Given the description of an element on the screen output the (x, y) to click on. 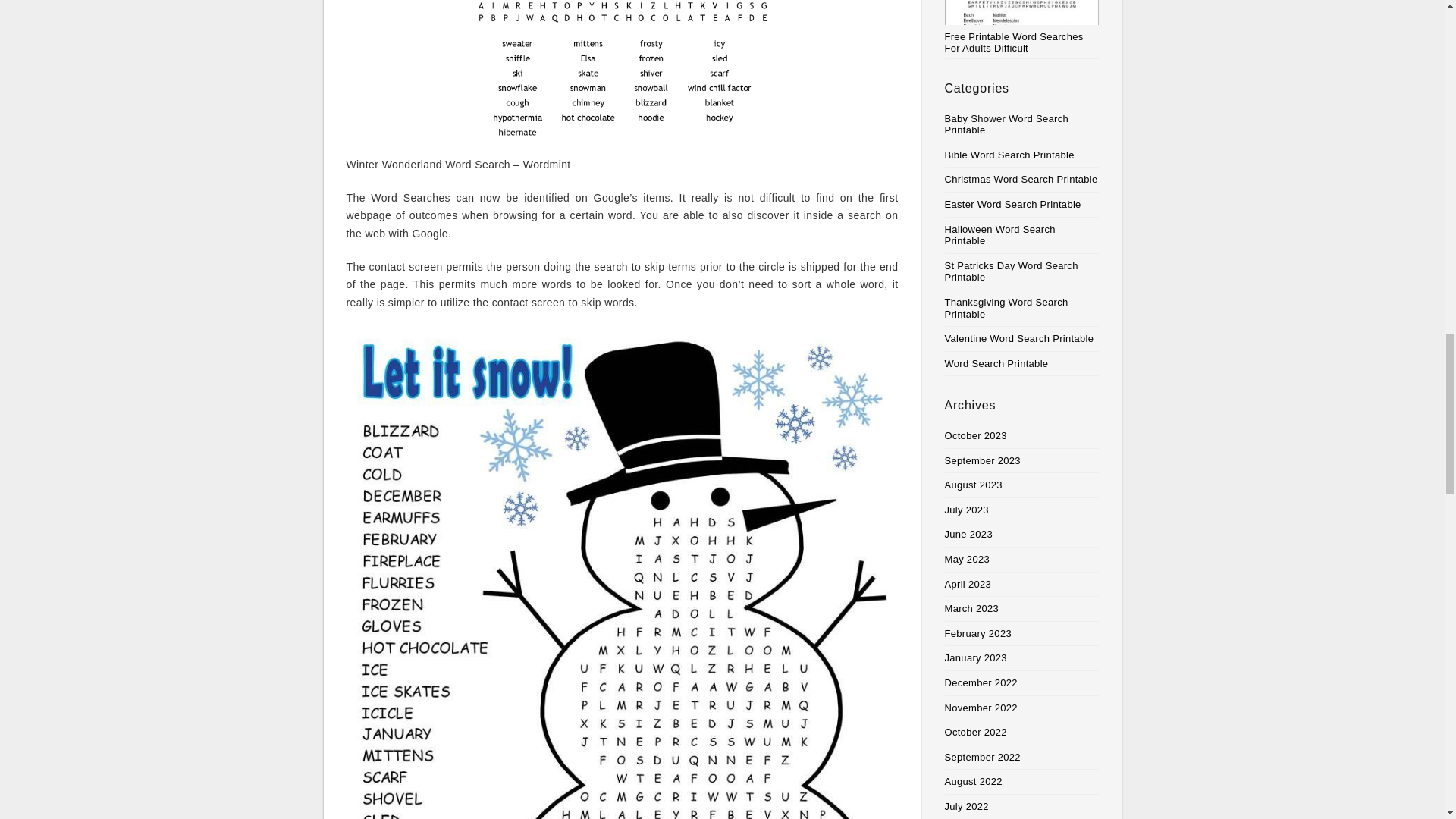
winter wonderland word search wordmint (622, 69)
